Given the description of an element on the screen output the (x, y) to click on. 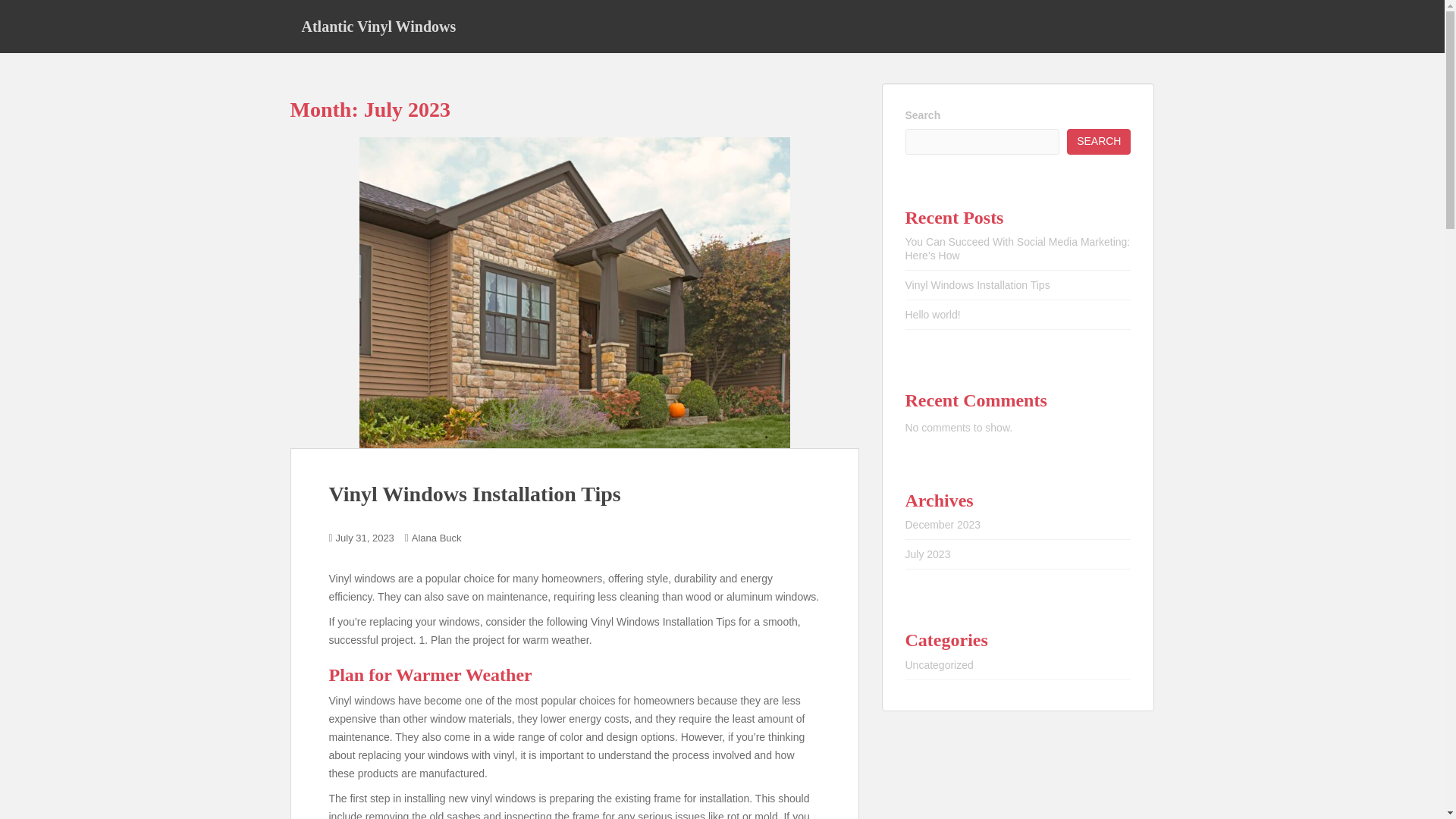
Vinyl Windows Installation Tips (977, 285)
SEARCH (1099, 141)
Vinyl Windows Installation Tips (475, 494)
July 2023 (927, 553)
Uncategorized (939, 664)
Atlantic Vinyl Windows (378, 26)
December 2023 (943, 524)
Alana Buck (436, 537)
Hello world! (932, 314)
July 31, 2023 (365, 537)
Atlantic Vinyl Windows (378, 26)
